Given the description of an element on the screen output the (x, y) to click on. 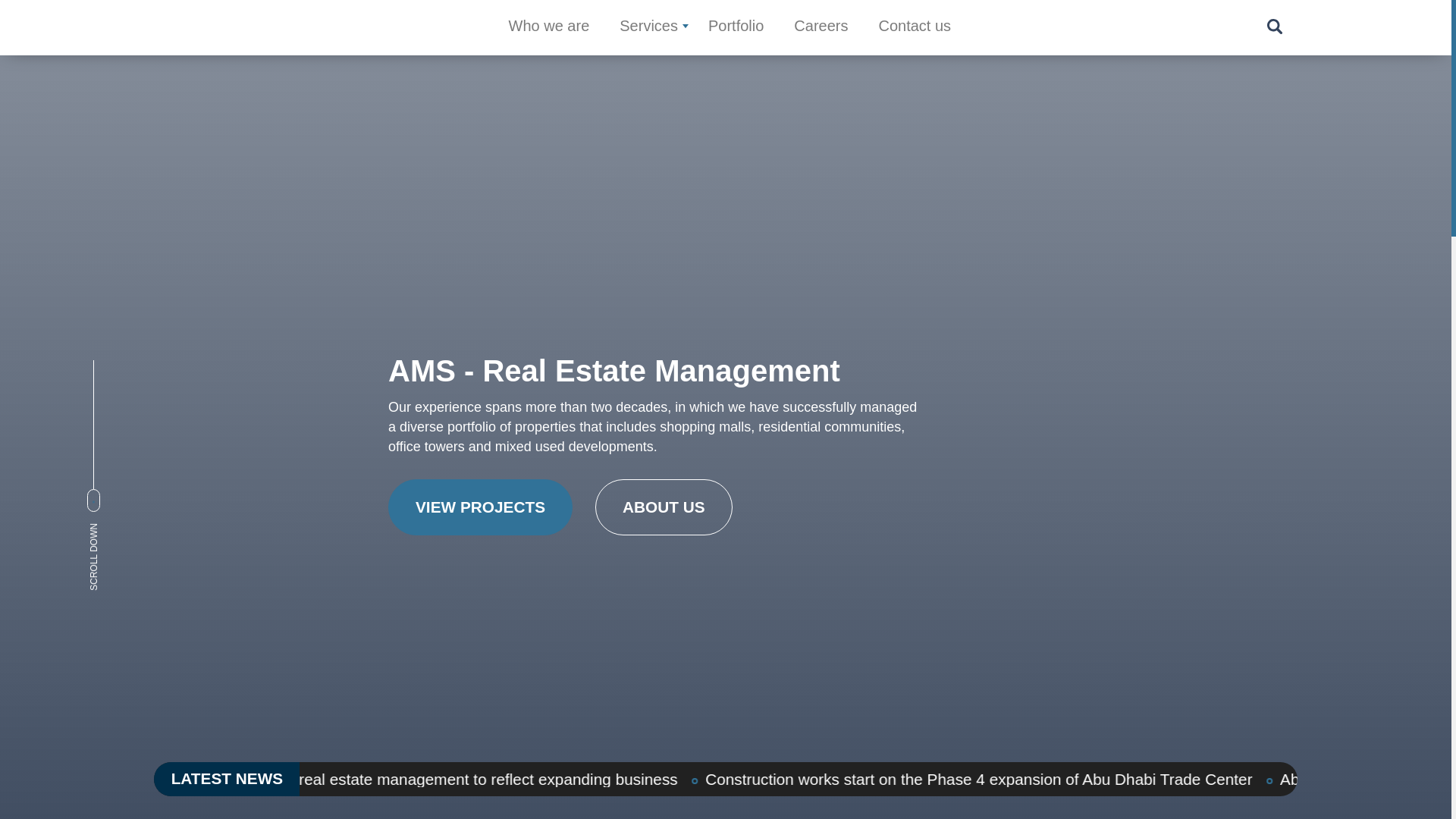
Contact us (913, 25)
Who we are (548, 25)
Portfolio (734, 25)
ABOUT US (663, 506)
Services (649, 25)
VIEW PROJECTS (480, 506)
Careers (820, 25)
